Given the description of an element on the screen output the (x, y) to click on. 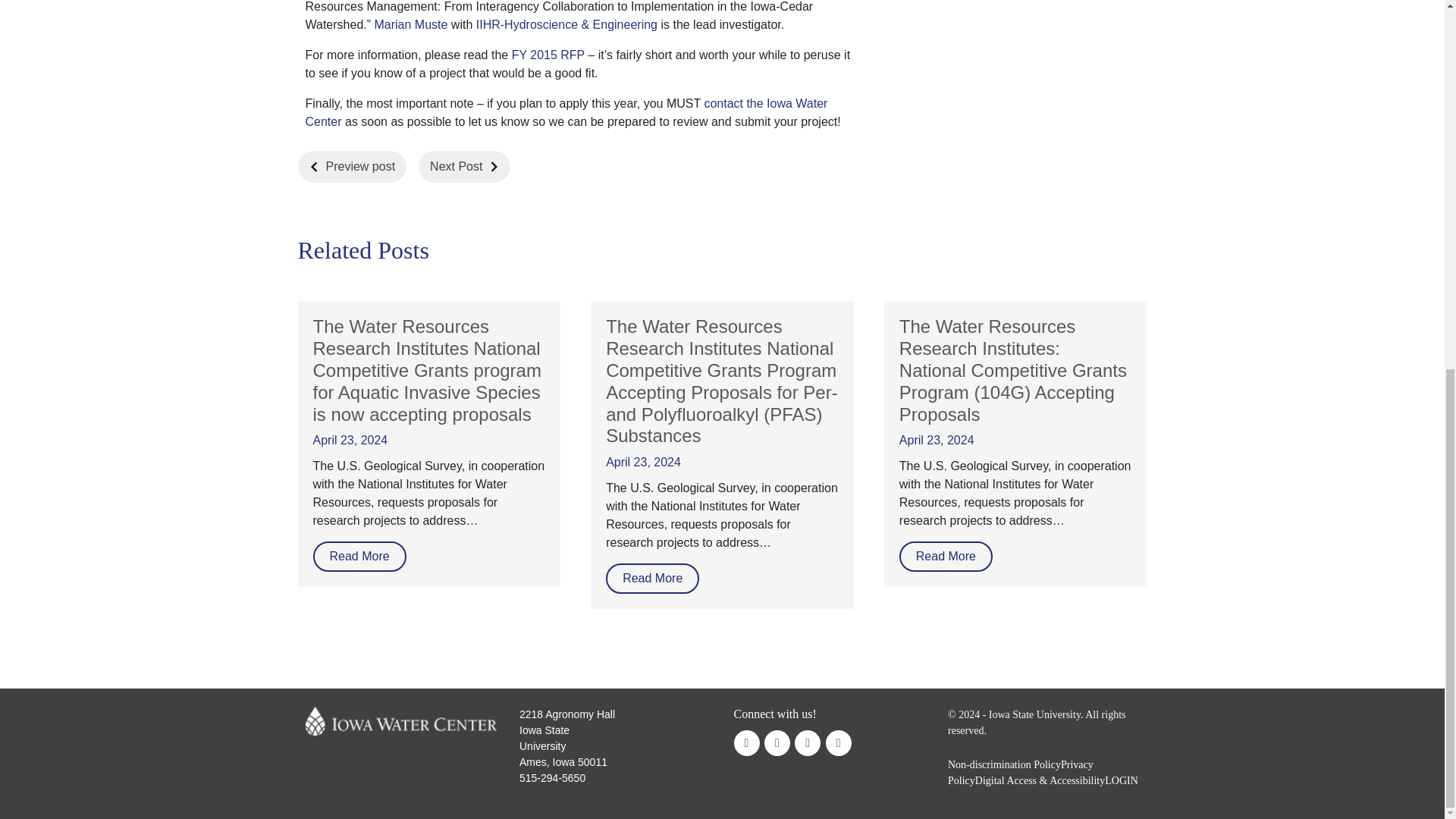
2024-04-23T08:24:52-05:00 (350, 440)
2024-04-23T08:16:06-05:00 (936, 440)
2024-04-23T08:22:59-05:00 (643, 461)
